Given the description of an element on the screen output the (x, y) to click on. 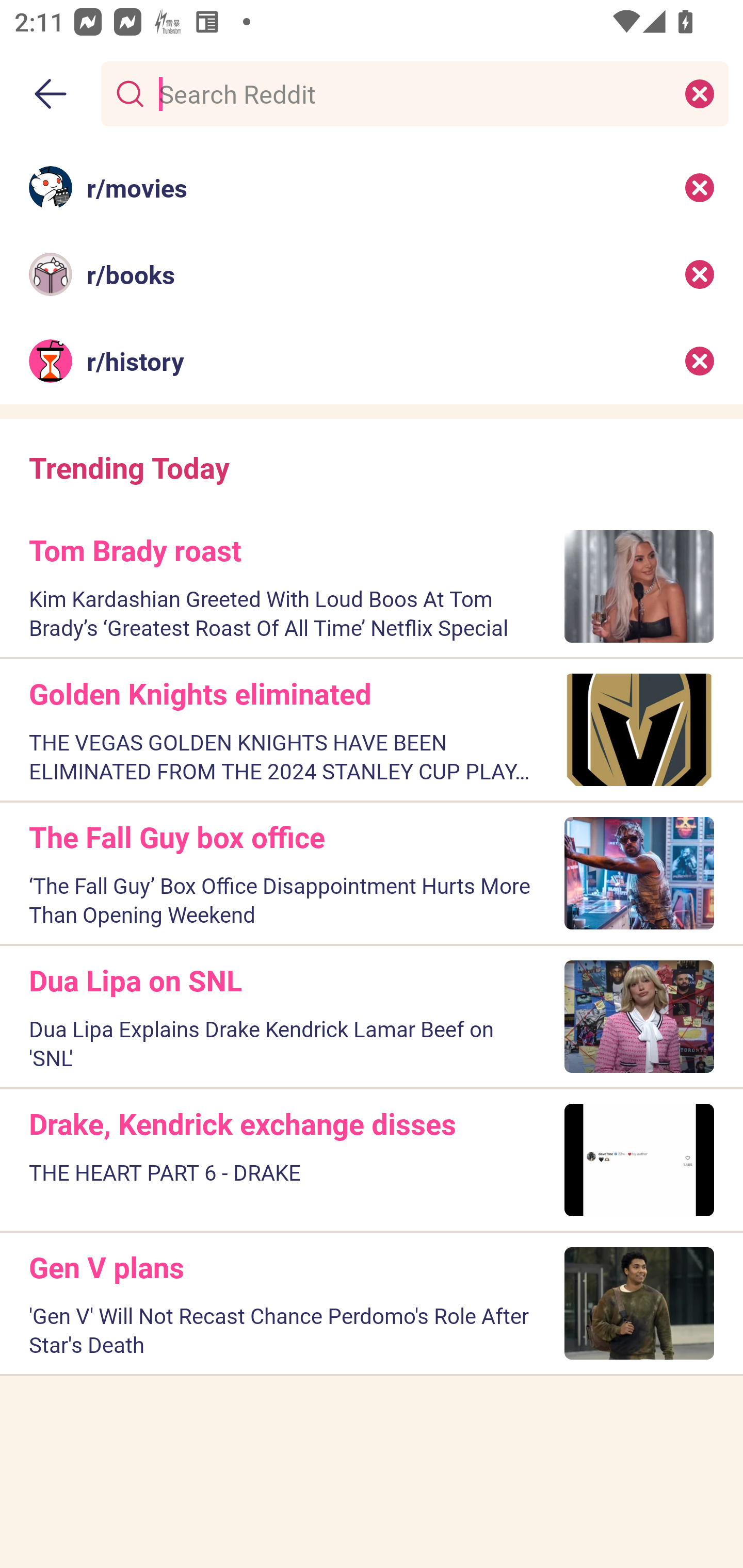
Back (50, 93)
Search Reddit (410, 93)
Clear search (699, 93)
r/movies Recent search: r/movies Remove (371, 187)
Remove (699, 187)
r/books Recent search: r/books Remove (371, 274)
Remove (699, 274)
r/history Recent search: r/history Remove (371, 361)
Remove (699, 361)
